Given the description of an element on the screen output the (x, y) to click on. 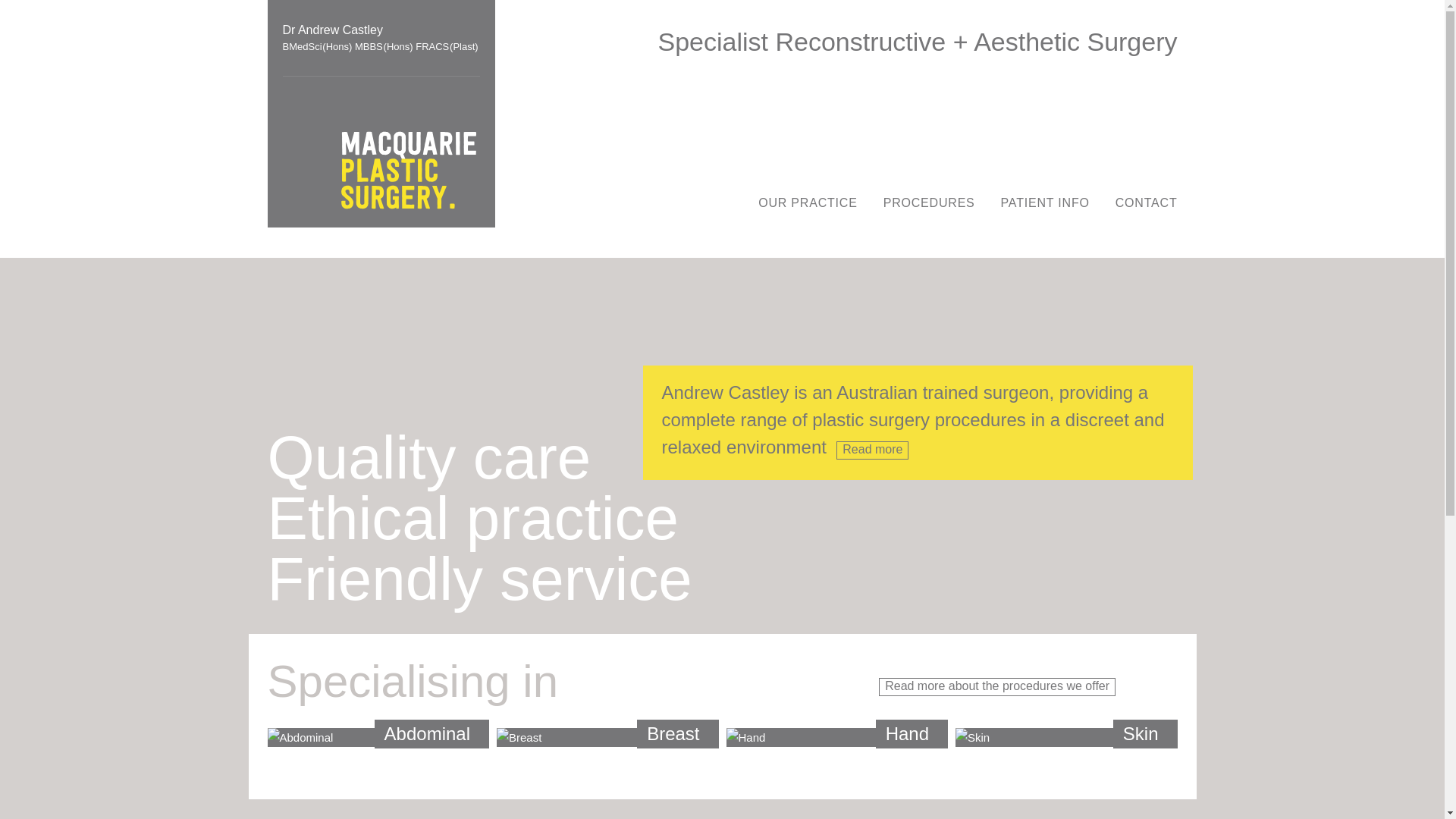
Specialist Reconstructive + Aesthetic Surgery Element type: text (916, 41)
PATIENT INFO Element type: text (1045, 202)
Hand Element type: text (837, 737)
OUR PRACTICE Element type: text (807, 202)
CONTACT Element type: text (1146, 202)
Read more Element type: text (872, 450)
Abdominal Element type: text (377, 737)
Read more about the procedures we offer Element type: text (996, 686)
PROCEDURES Element type: text (928, 202)
Skin Element type: text (1066, 737)
Breast Element type: text (607, 737)
